Given the description of an element on the screen output the (x, y) to click on. 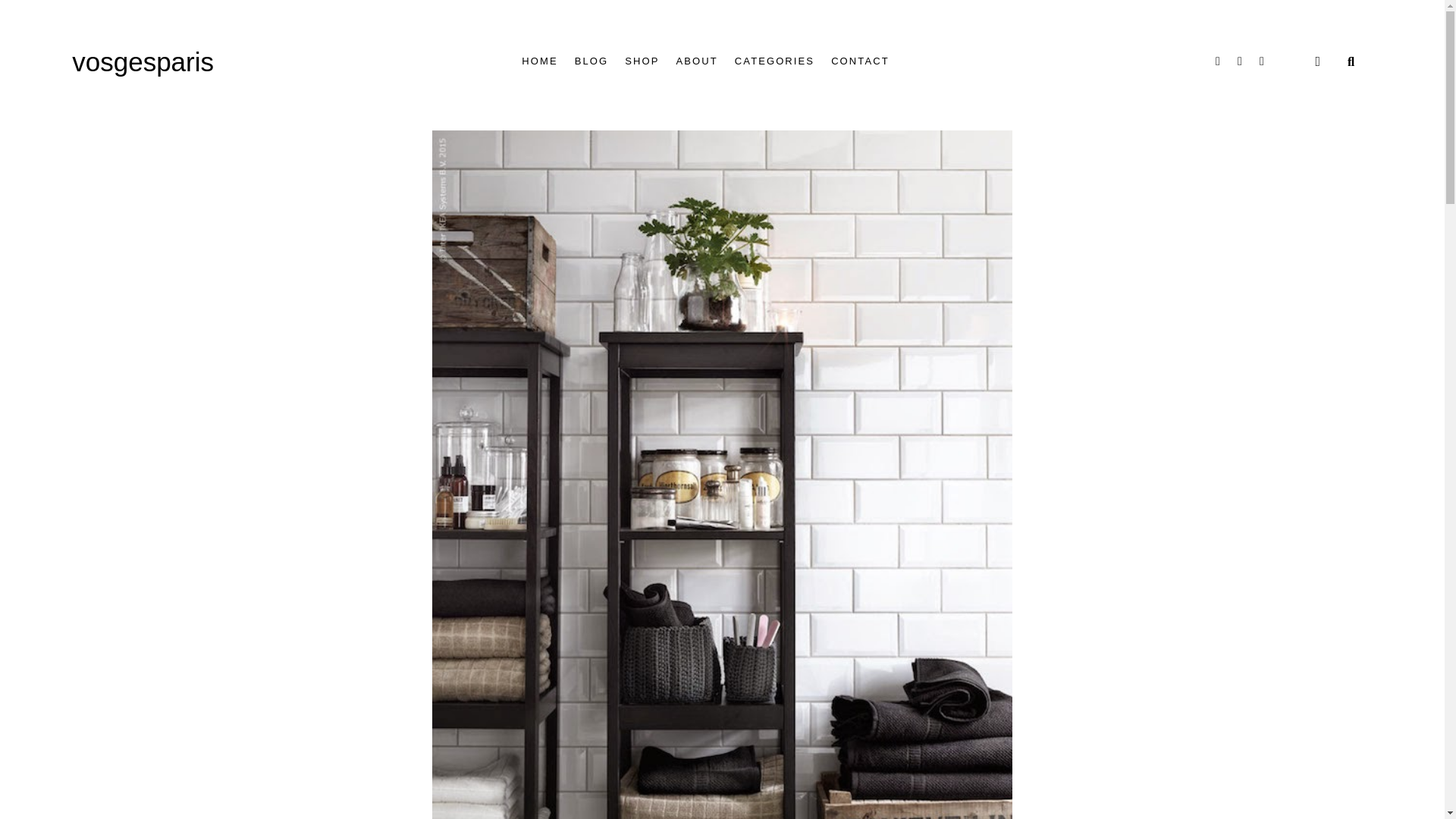
BLOG (591, 61)
ABOUT (697, 61)
HOME (539, 61)
CONTACT (860, 61)
SHOP (641, 61)
vosgesparis (142, 61)
CATEGORIES (774, 61)
